Given the description of an element on the screen output the (x, y) to click on. 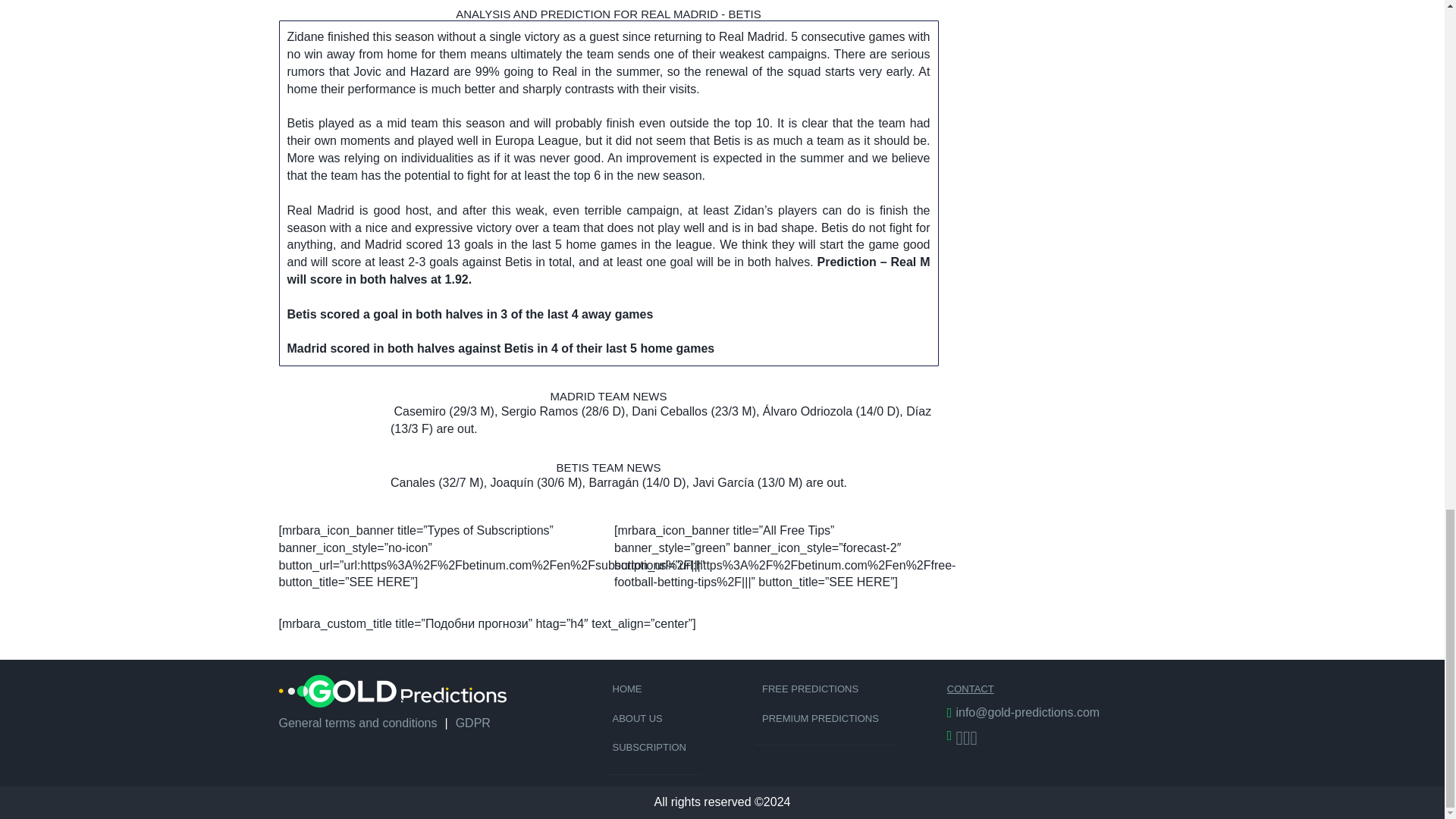
HOME (653, 689)
PREMIUM PREDICTIONS (823, 718)
SUBSCRIPTION (653, 747)
ABOUT US (653, 718)
GDPR (472, 723)
FREE PREDICTIONS (823, 689)
General terms and conditions (358, 723)
